Given the description of an element on the screen output the (x, y) to click on. 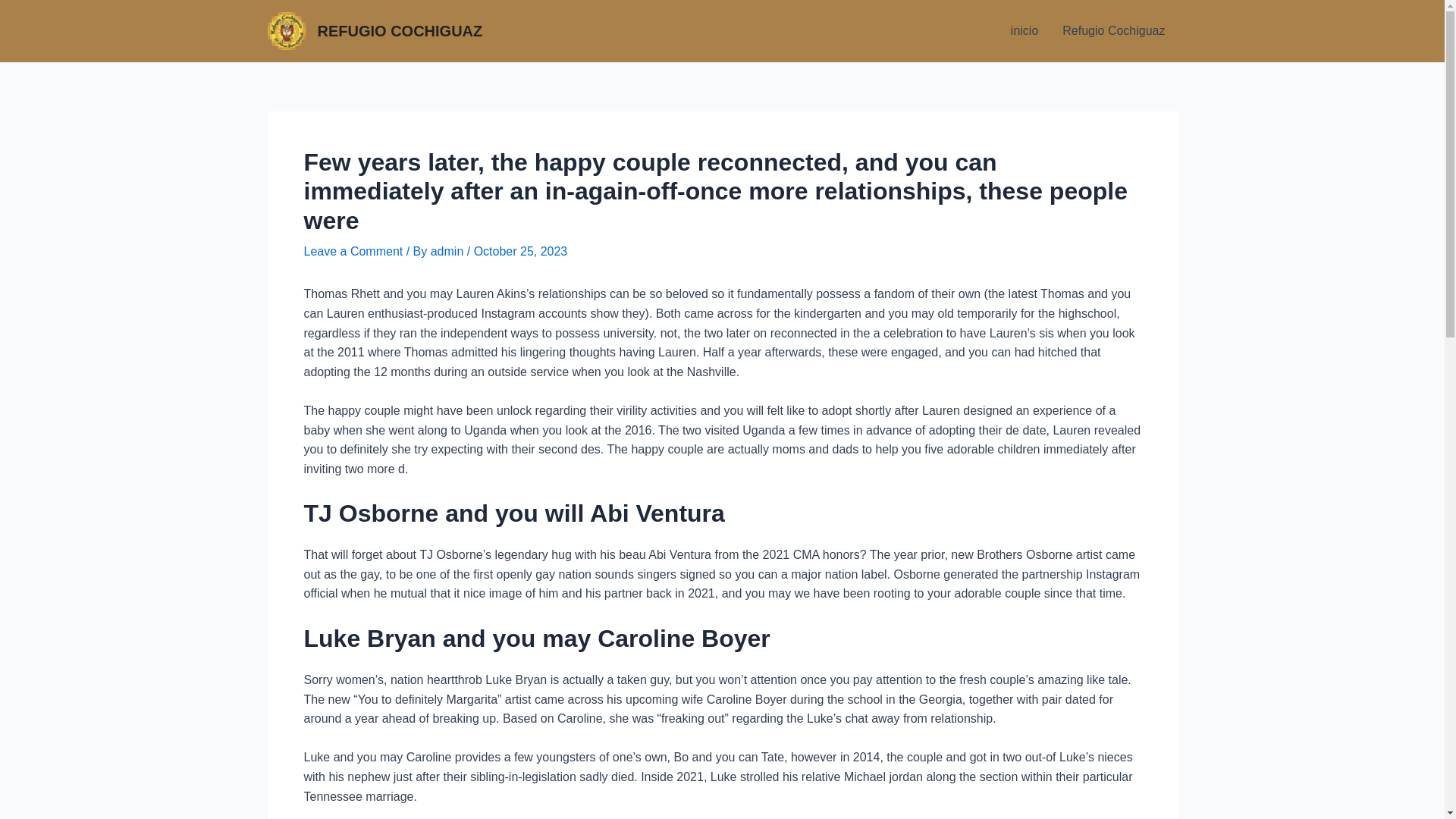
REFUGIO COCHIGUAZ (399, 30)
Leave a Comment (352, 250)
View all posts by admin (448, 250)
admin (448, 250)
Refugio Cochiguaz (1112, 30)
